Given the description of an element on the screen output the (x, y) to click on. 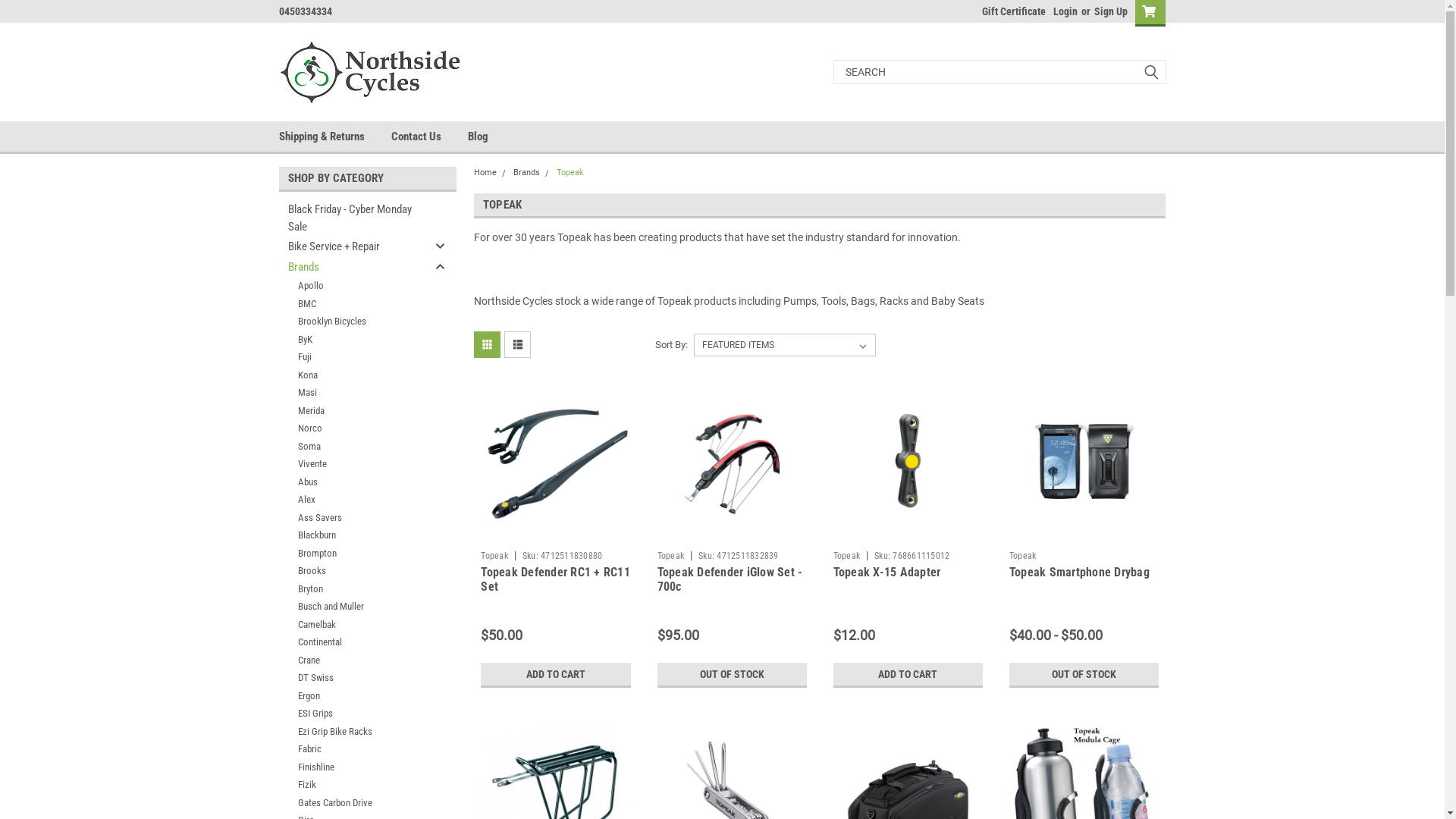
Fuji Element type: text (354, 357)
Brands Element type: text (526, 172)
Topeak Element type: text (494, 555)
Camelbak Element type: text (354, 624)
Merida Element type: text (354, 410)
Topeak Defender iGlow Set - 700c Element type: text (730, 579)
Topeak Smartphone Drybag Element type: text (1079, 571)
BMC Element type: text (354, 303)
Gates Carbon Drive Element type: text (354, 802)
Northside Cycles Element type: hover (373, 71)
Gift Certificate Element type: text (1008, 11)
Finishline Element type: text (354, 767)
Brompton Element type: text (354, 553)
ByK Element type: text (354, 339)
Ezi Grip Bike Racks Element type: text (354, 730)
Sku: 4712511832839 Element type: text (738, 555)
Brooklyn Bicycles Element type: text (354, 321)
Topeak Element type: text (1022, 555)
Topeak Defender RC1 + RC11 Set Element type: hover (555, 461)
submit Element type: hover (1150, 71)
Bike Service + Repair Element type: text (354, 246)
Topeak Defender iGlow Set - 700c Element type: hover (731, 461)
Topeak Element type: text (670, 555)
Topeak Element type: text (846, 555)
Brooks Element type: text (354, 570)
Norco Element type: text (354, 428)
Fizik Element type: text (354, 784)
Continental Element type: text (354, 642)
Bryton Element type: text (354, 588)
Login Element type: text (1064, 11)
Masi Element type: text (354, 392)
Apollo Element type: text (354, 285)
Home Element type: text (484, 172)
Fabric Element type: text (354, 749)
ESI Grips Element type: text (354, 713)
Alex Element type: text (354, 499)
Topeak X-15 Adapter Element type: text (887, 571)
Contact Us Element type: text (429, 136)
Topeak X-15 Adapter Element type: hover (907, 461)
ADD TO CART Element type: text (907, 674)
Soma Element type: text (354, 445)
OUT OF STOCK Element type: text (1083, 674)
Crane Element type: text (354, 659)
Shipping & Returns Element type: text (335, 136)
Sku: 4712511830880 Element type: text (562, 555)
Blackburn Element type: text (354, 535)
Ass Savers Element type: text (354, 517)
Topeak Smartphone Drybag Element type: hover (1083, 461)
OUT OF STOCK Element type: text (731, 674)
Busch and Muller Element type: text (354, 606)
Vivente Element type: text (354, 464)
Sku: 768661115012 Element type: text (911, 555)
Topeak Element type: text (569, 172)
Topeak Defender RC1 + RC11 Set Element type: text (555, 579)
Blog Element type: text (490, 136)
Ergon Element type: text (354, 696)
ADD TO CART Element type: text (555, 674)
Brands Element type: text (354, 266)
Sign Up Element type: text (1108, 11)
Abus Element type: text (354, 482)
DT Swiss Element type: text (354, 677)
Black Friday - Cyber Monday Sale Element type: text (354, 217)
Kona Element type: text (354, 374)
